Given the description of an element on the screen output the (x, y) to click on. 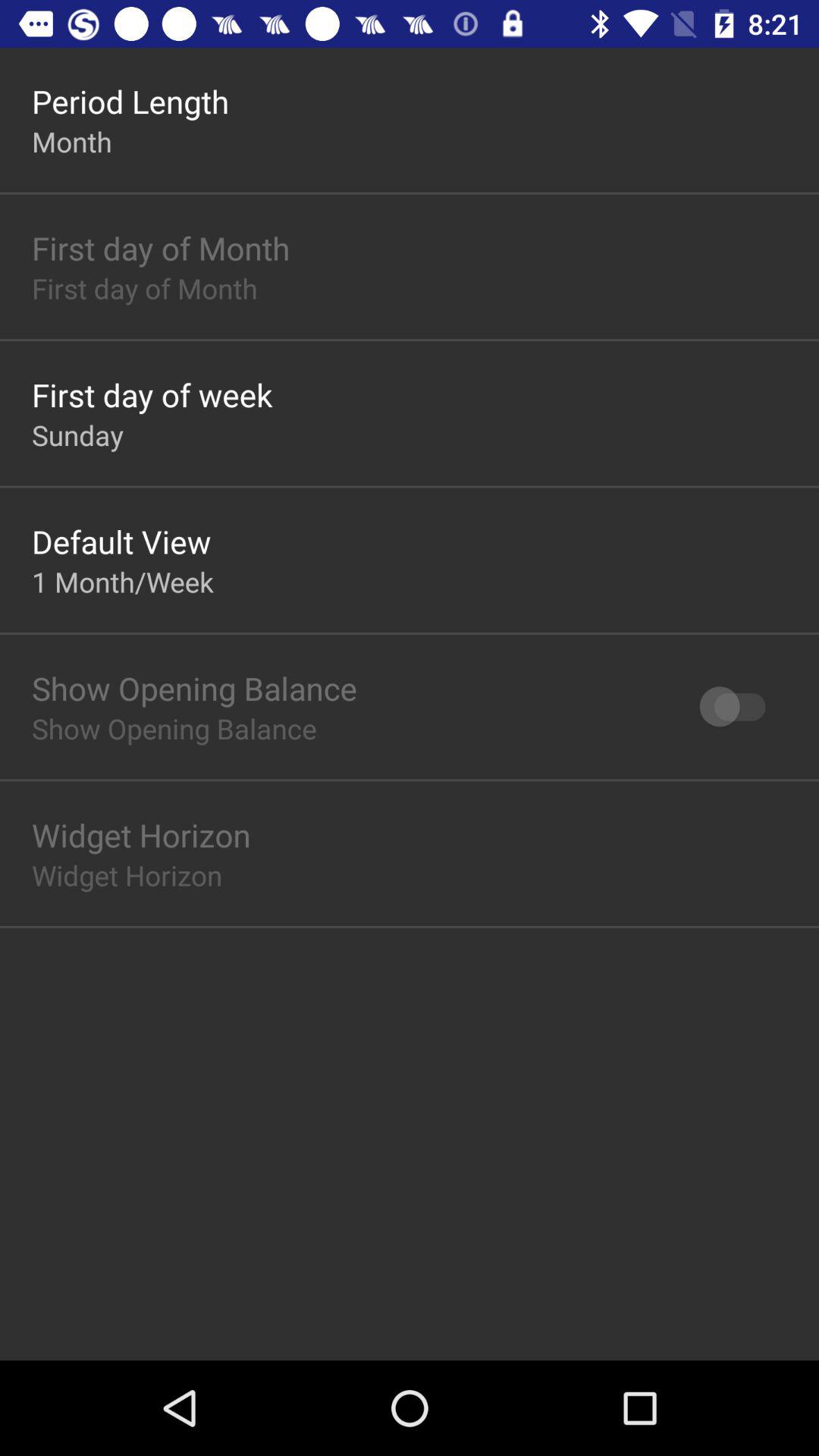
open the item below sunday app (121, 541)
